Given the description of an element on the screen output the (x, y) to click on. 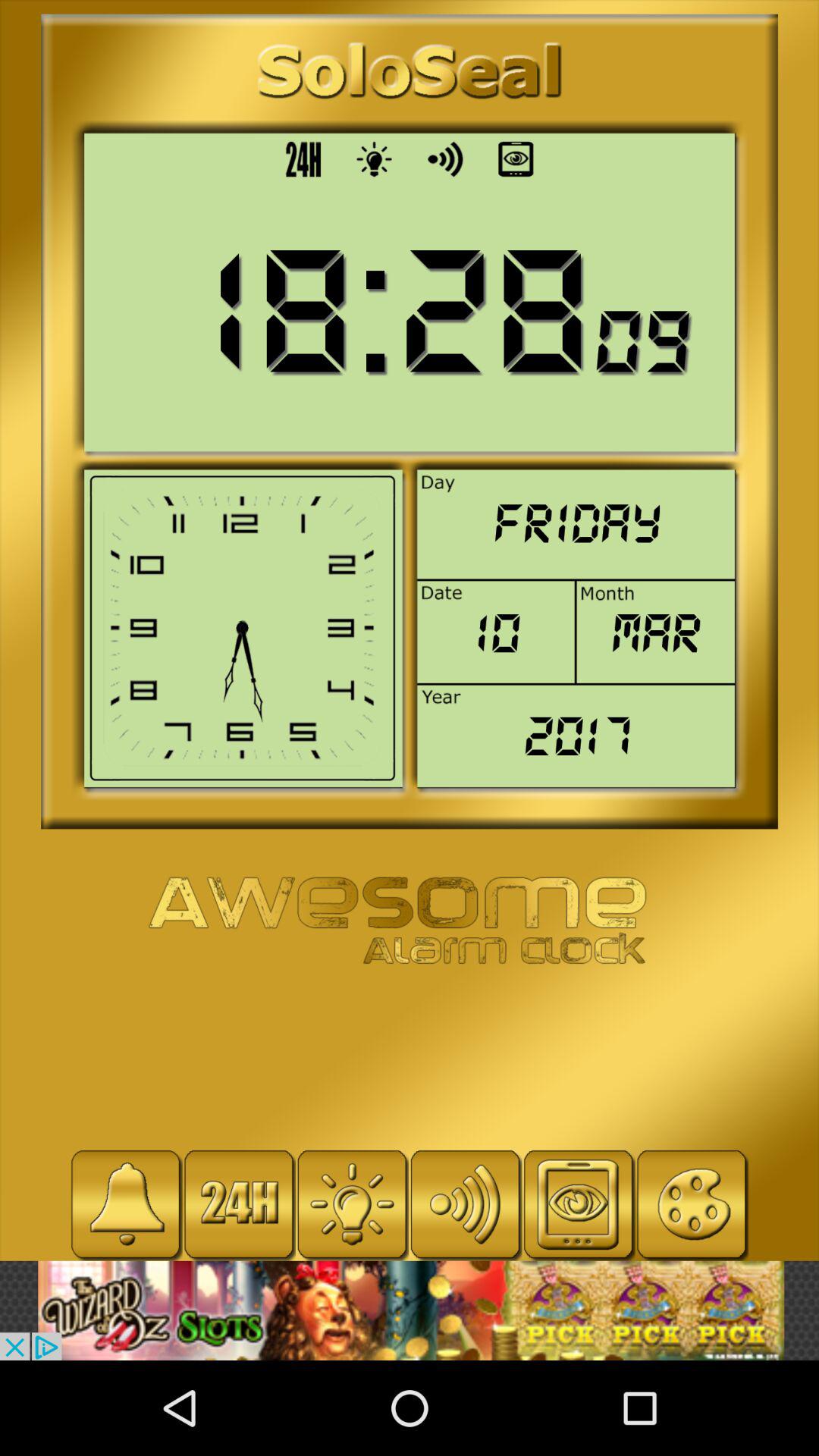
change time (238, 1203)
